Given the description of an element on the screen output the (x, y) to click on. 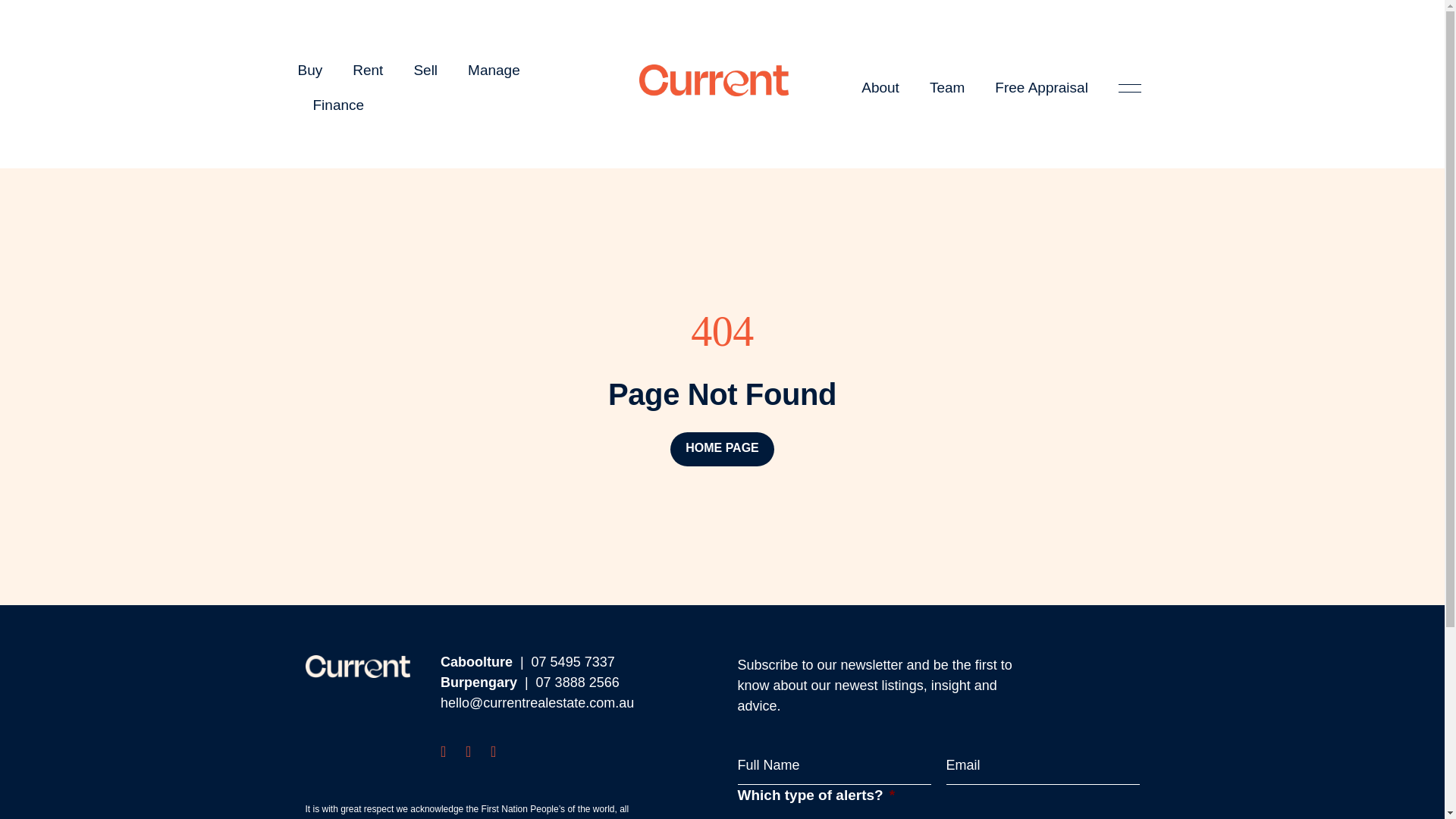
About (880, 87)
Free Appraisal (1040, 87)
Manage (493, 70)
Team (946, 87)
Finance (338, 104)
